Given the description of an element on the screen output the (x, y) to click on. 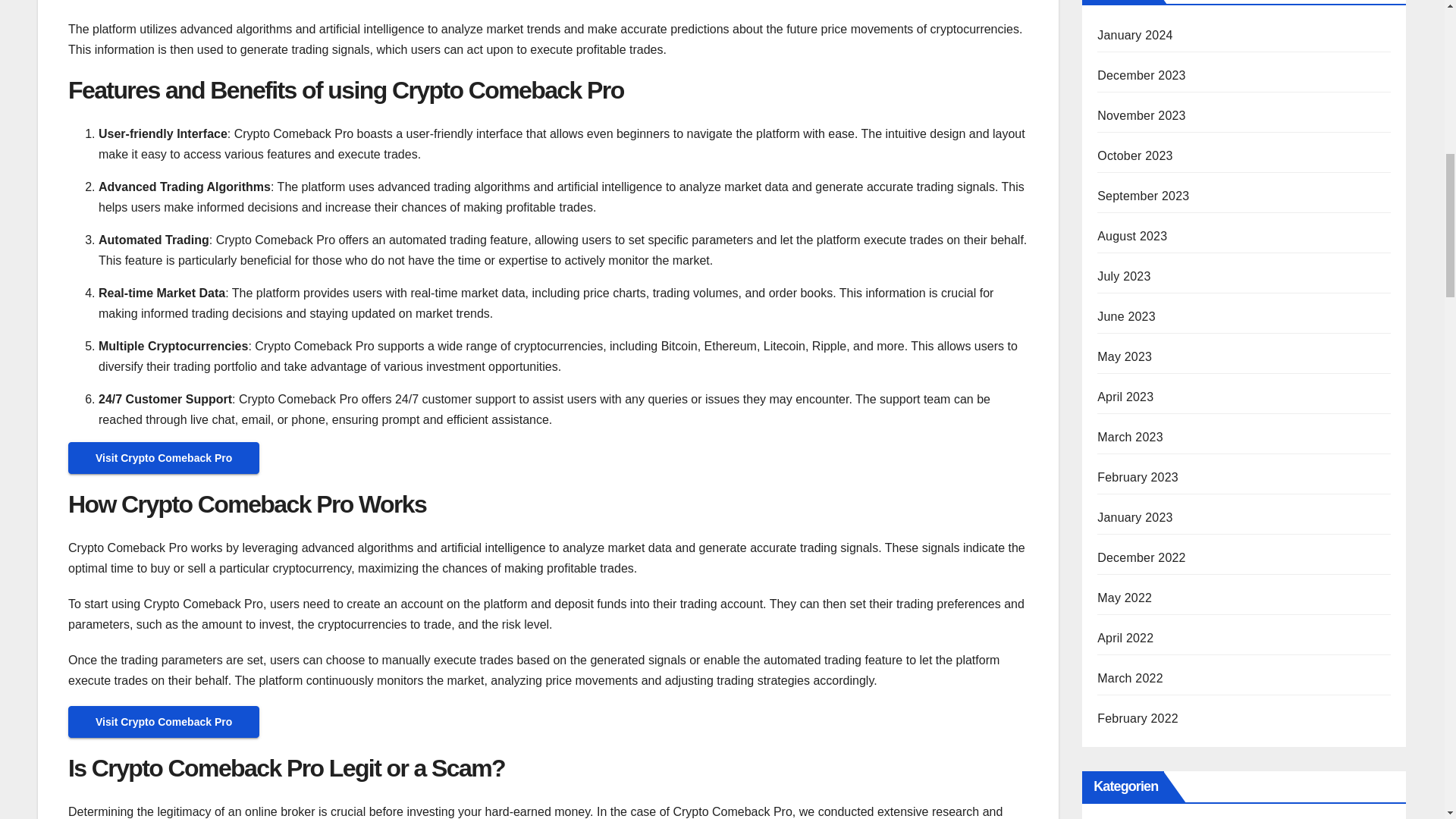
Visit Crypto Comeback Pro (163, 458)
Visit Crypto Comeback Pro (163, 721)
Visit Crypto Comeback Pro (163, 721)
Visit Crypto Comeback Pro (163, 457)
